Given the description of an element on the screen output the (x, y) to click on. 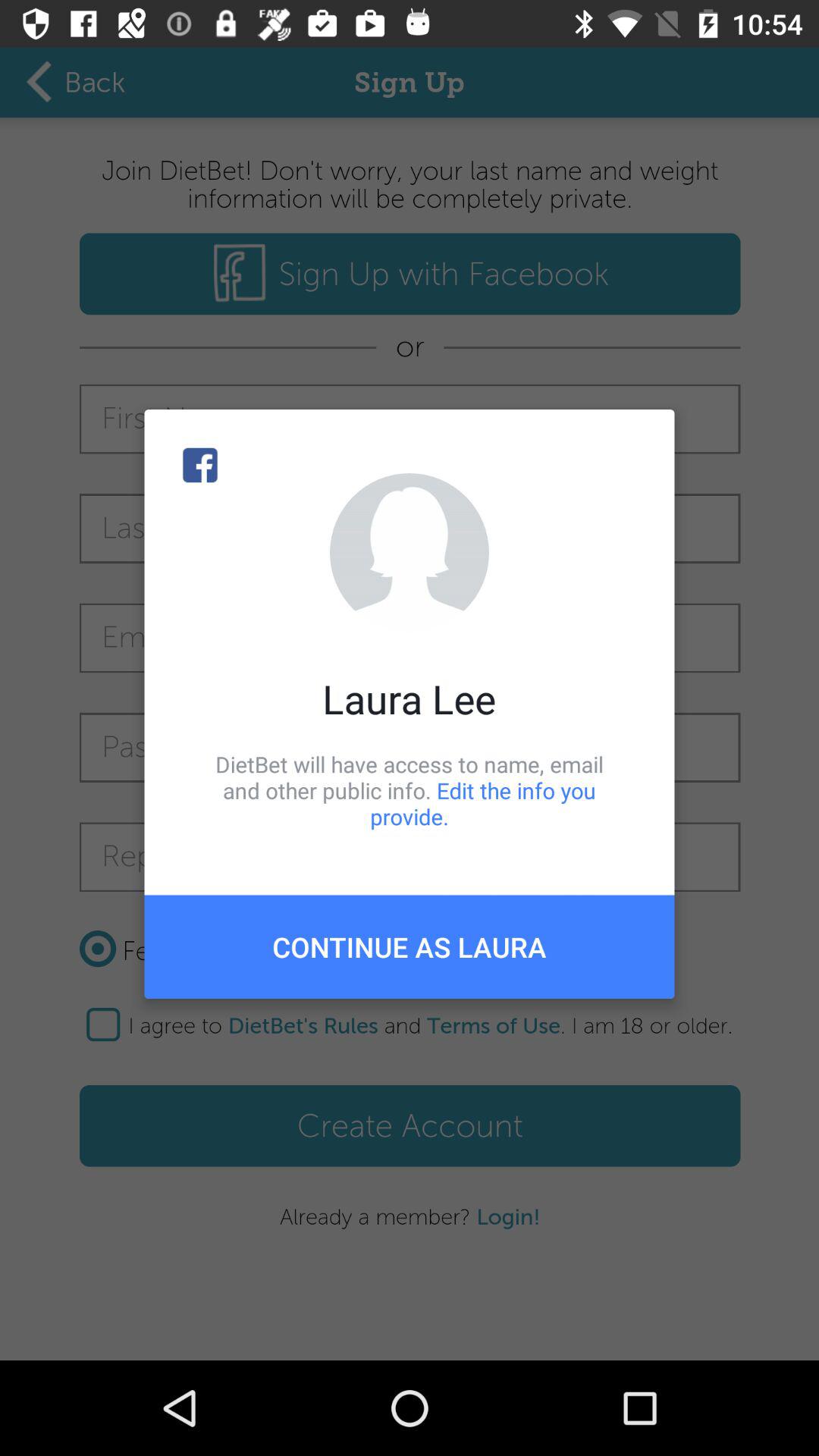
launch item below the dietbet will have (409, 946)
